Given the description of an element on the screen output the (x, y) to click on. 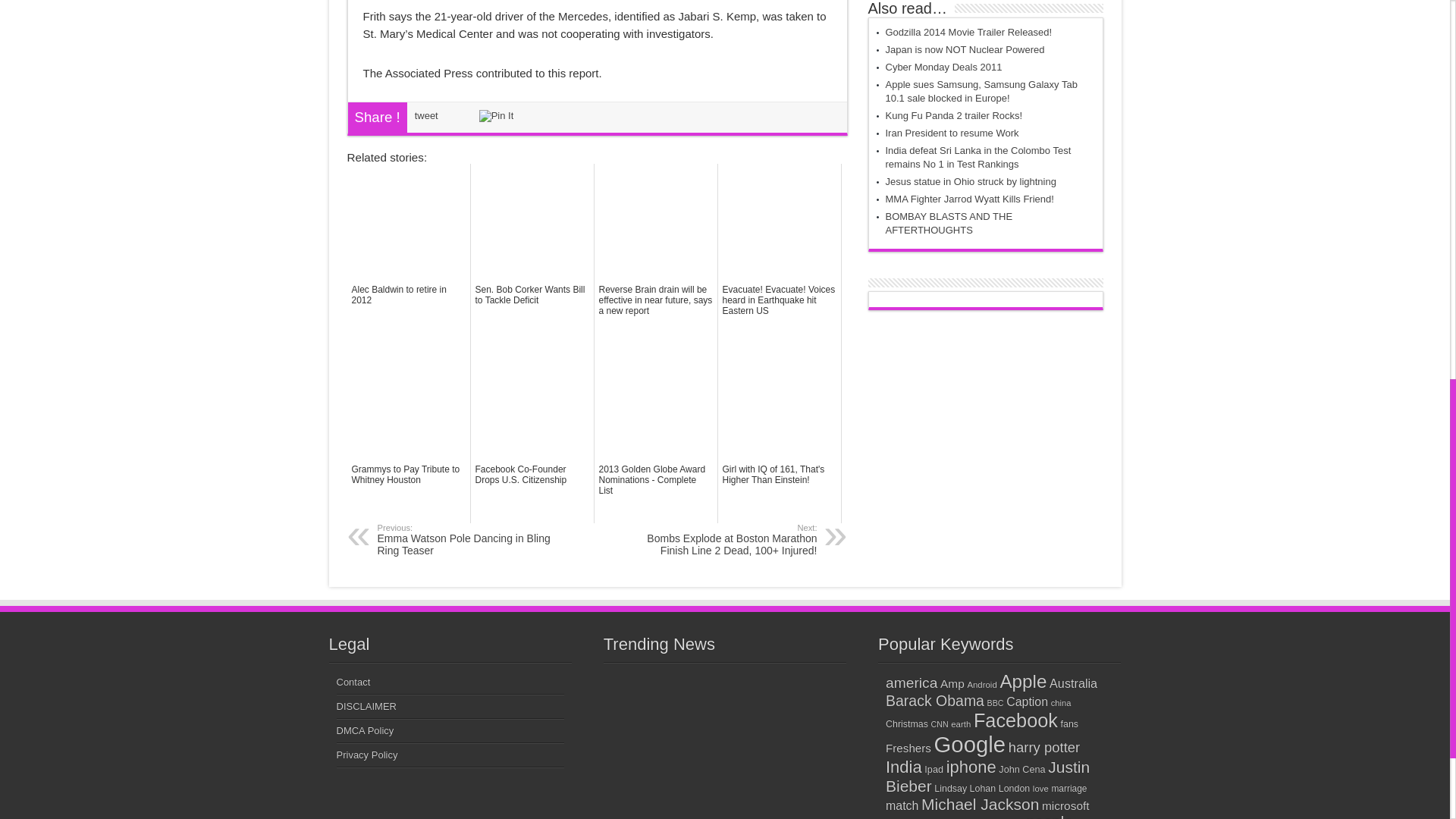
Pin It (496, 114)
Japan is now NOT Nuclear Powered (965, 49)
Cyber Monday Deals 2011 (944, 66)
Godzilla 2014 Movie Trailer Released! (968, 31)
Kung Fu Panda 2 trailer Rocks! (954, 115)
